Given the description of an element on the screen output the (x, y) to click on. 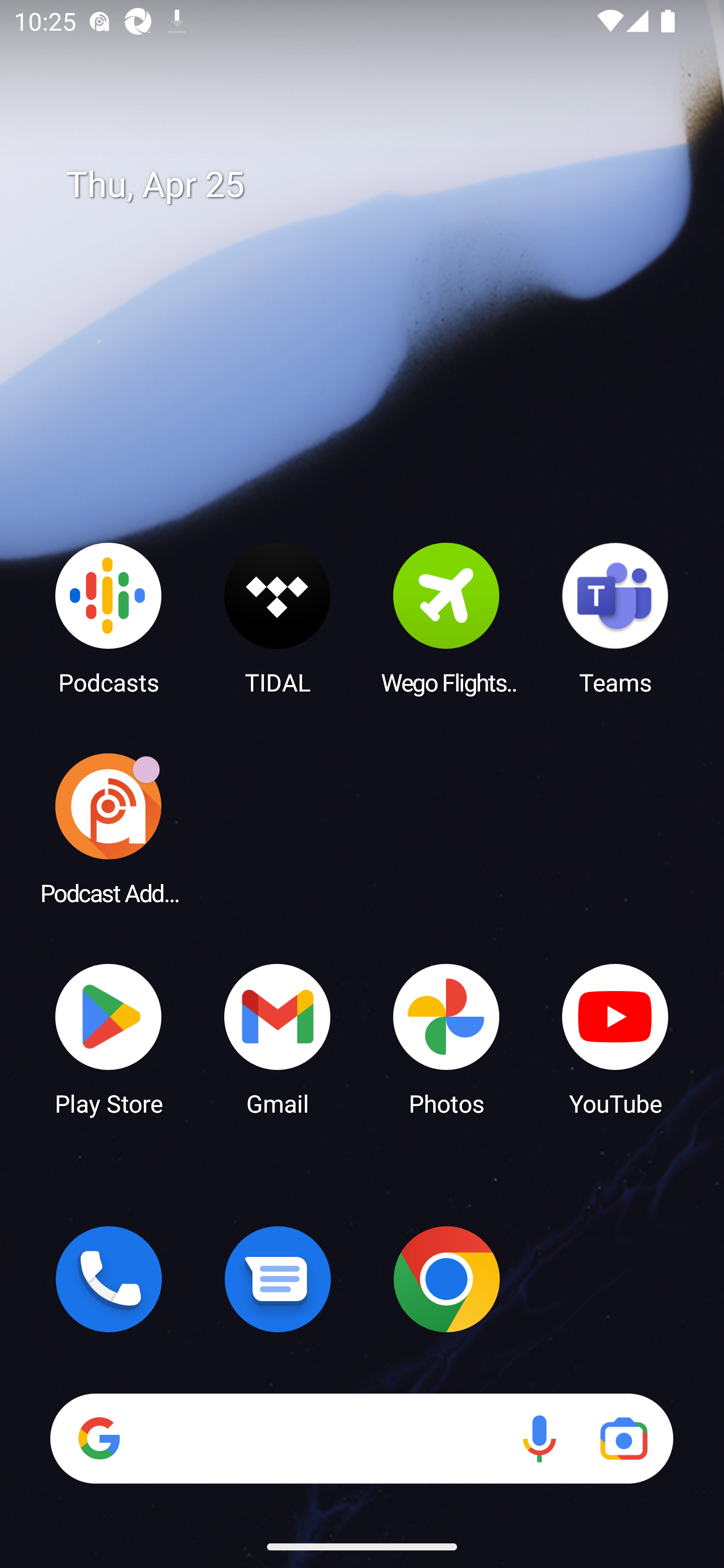
Thu, Apr 25 (375, 184)
Podcasts (108, 617)
TIDAL (277, 617)
Wego Flights & Hotels (445, 617)
Teams (615, 617)
Play Store (108, 1038)
Gmail (277, 1038)
Photos (445, 1038)
YouTube (615, 1038)
Phone (108, 1279)
Messages (277, 1279)
Chrome (446, 1279)
Search Voice search Google Lens (361, 1438)
Voice search (539, 1438)
Google Lens (623, 1438)
